Given the description of an element on the screen output the (x, y) to click on. 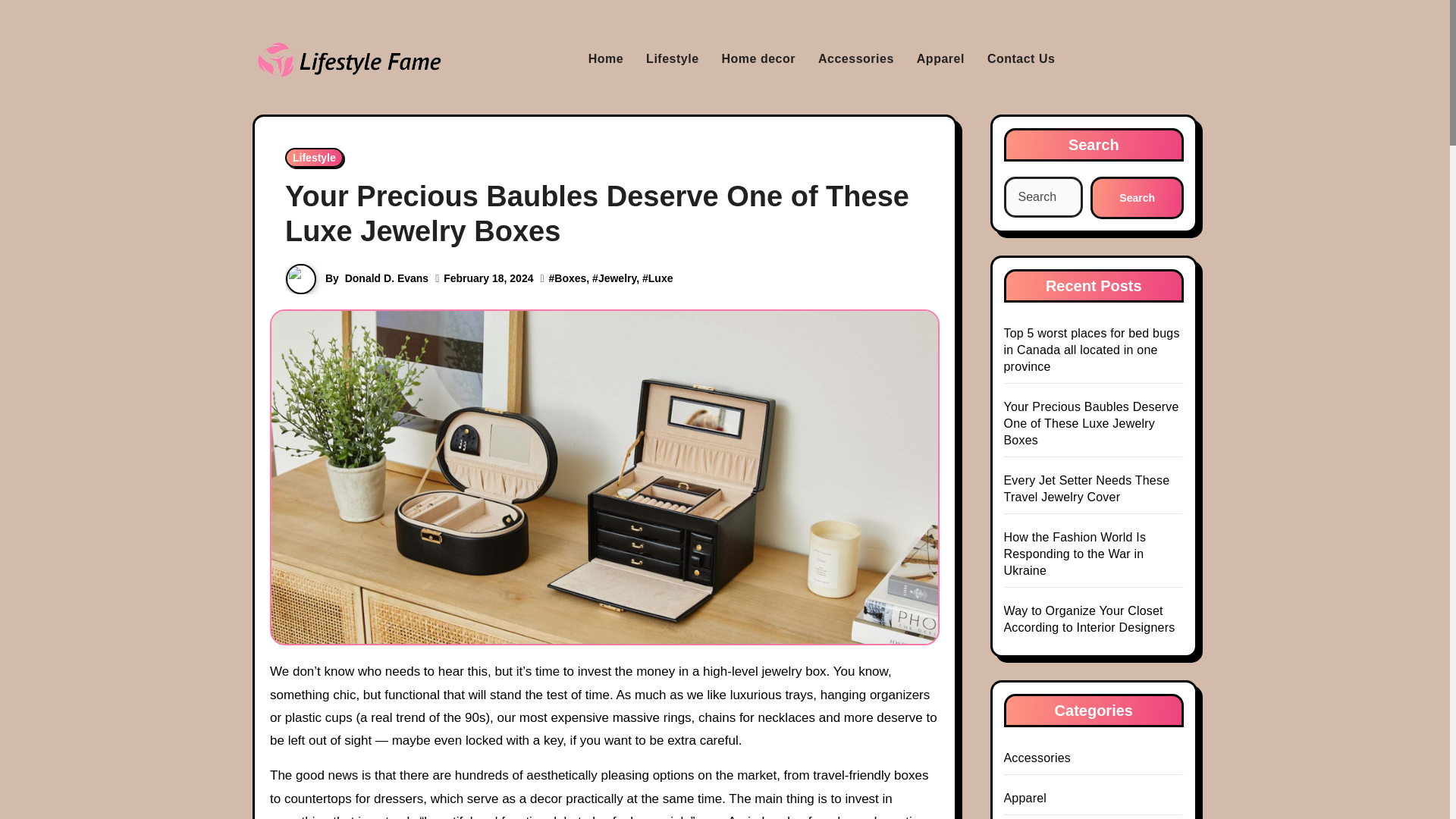
Donald D. Evans (386, 277)
Home decor (758, 59)
Accessories (855, 59)
Search (1136, 197)
Contact Us (1020, 59)
Home (605, 59)
Lifestyle (672, 59)
Contact Us (1020, 59)
Jewelry (617, 277)
Lifestyle (672, 59)
